Given the description of an element on the screen output the (x, y) to click on. 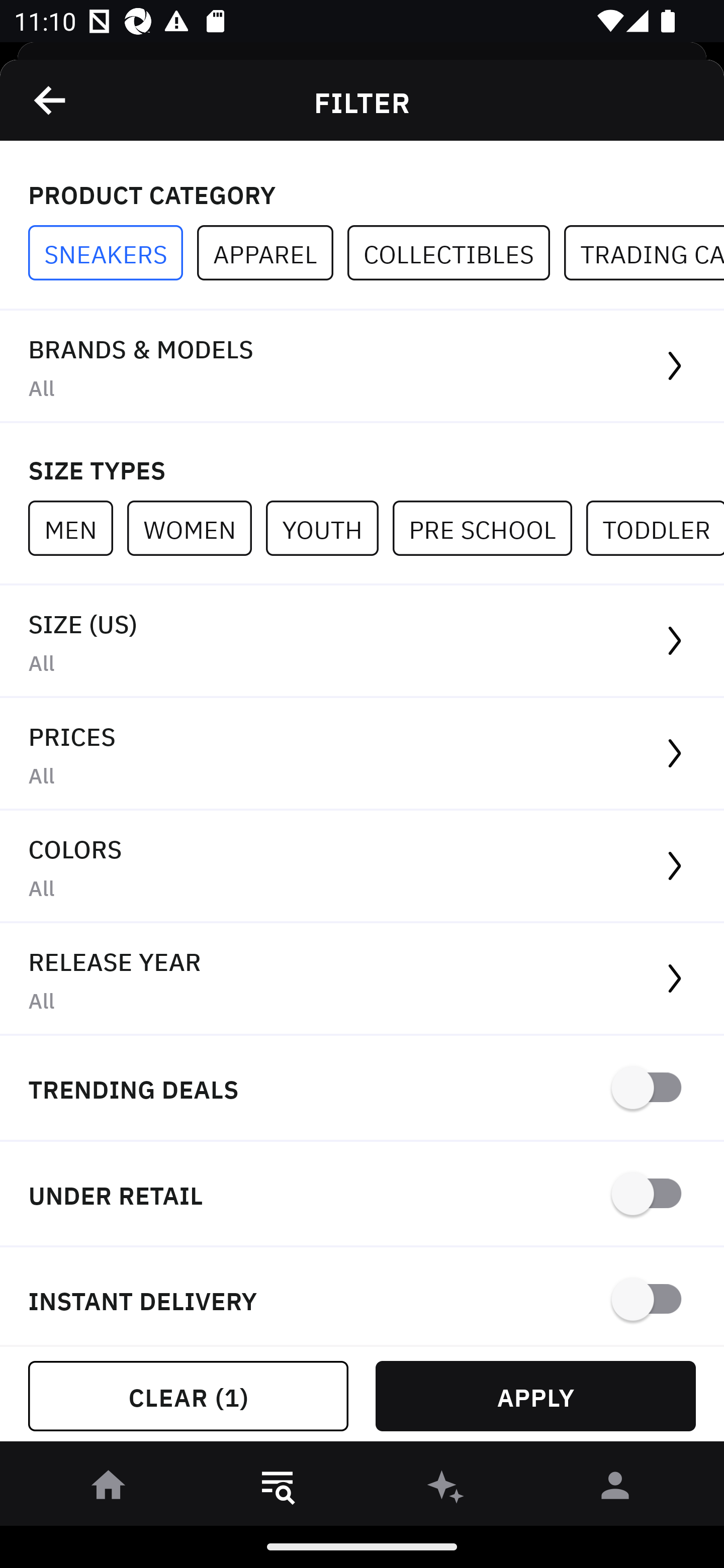
 (50, 100)
SNEAKERS (112, 252)
APPAREL (271, 252)
COLLECTIBLES (455, 252)
TRADING CARDS (643, 252)
BRANDS & MODELS All (362, 366)
MEN (77, 527)
WOMEN (196, 527)
YOUTH (328, 527)
PRE SCHOOL (489, 527)
TODDLER (655, 527)
SIZE (US) All (362, 640)
PRICES All (362, 753)
COLORS All (362, 866)
RELEASE YEAR All (362, 979)
TRENDING DEALS (362, 1088)
UNDER RETAIL (362, 1194)
INSTANT DELIVERY (362, 1296)
CLEAR (1) (188, 1396)
APPLY (535, 1396)
󰋜 (108, 1488)
󱎸 (277, 1488)
󰫢 (446, 1488)
󰀄 (615, 1488)
